Given the description of an element on the screen output the (x, y) to click on. 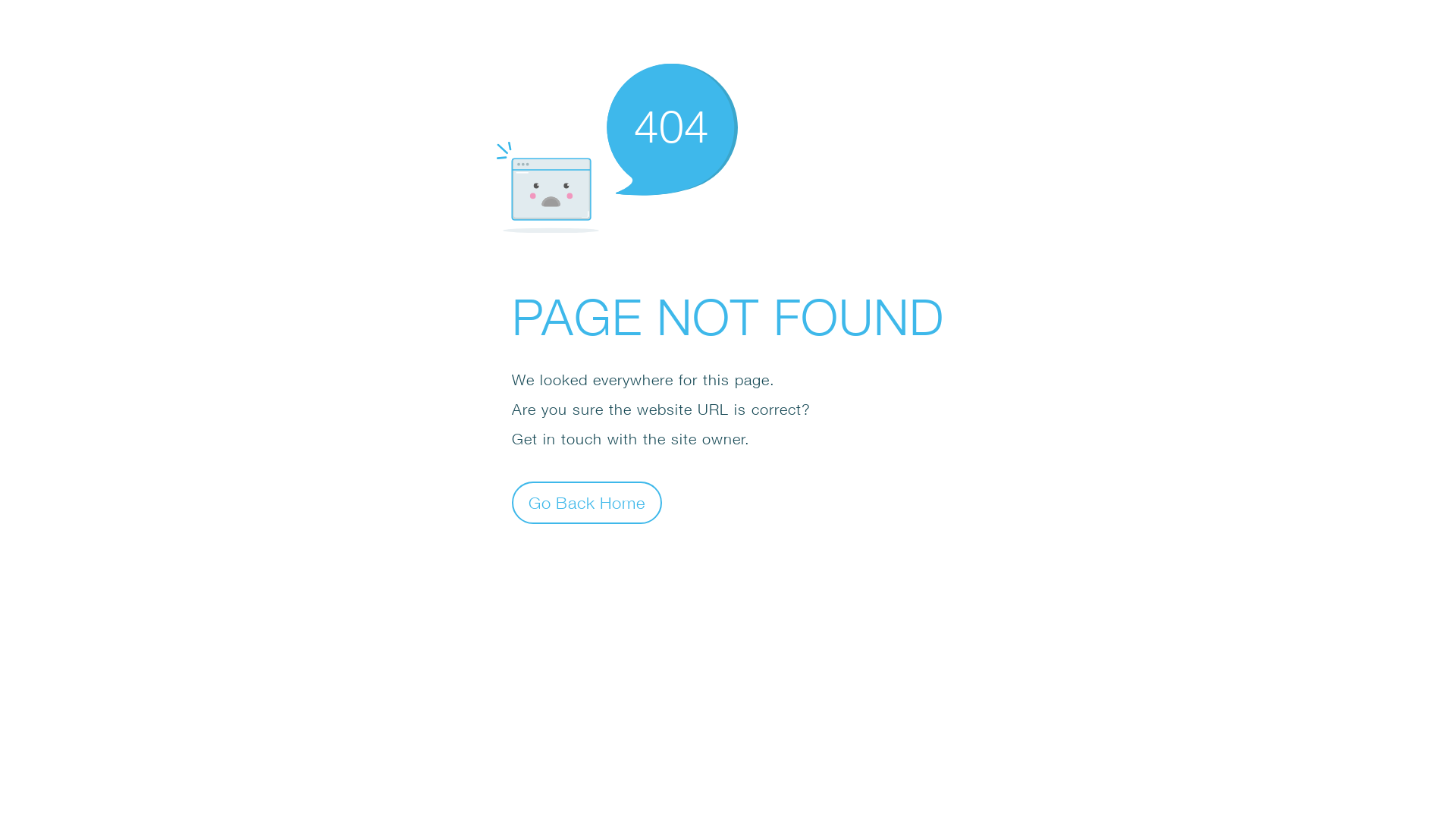
Go Back Home Element type: text (586, 502)
